Given the description of an element on the screen output the (x, y) to click on. 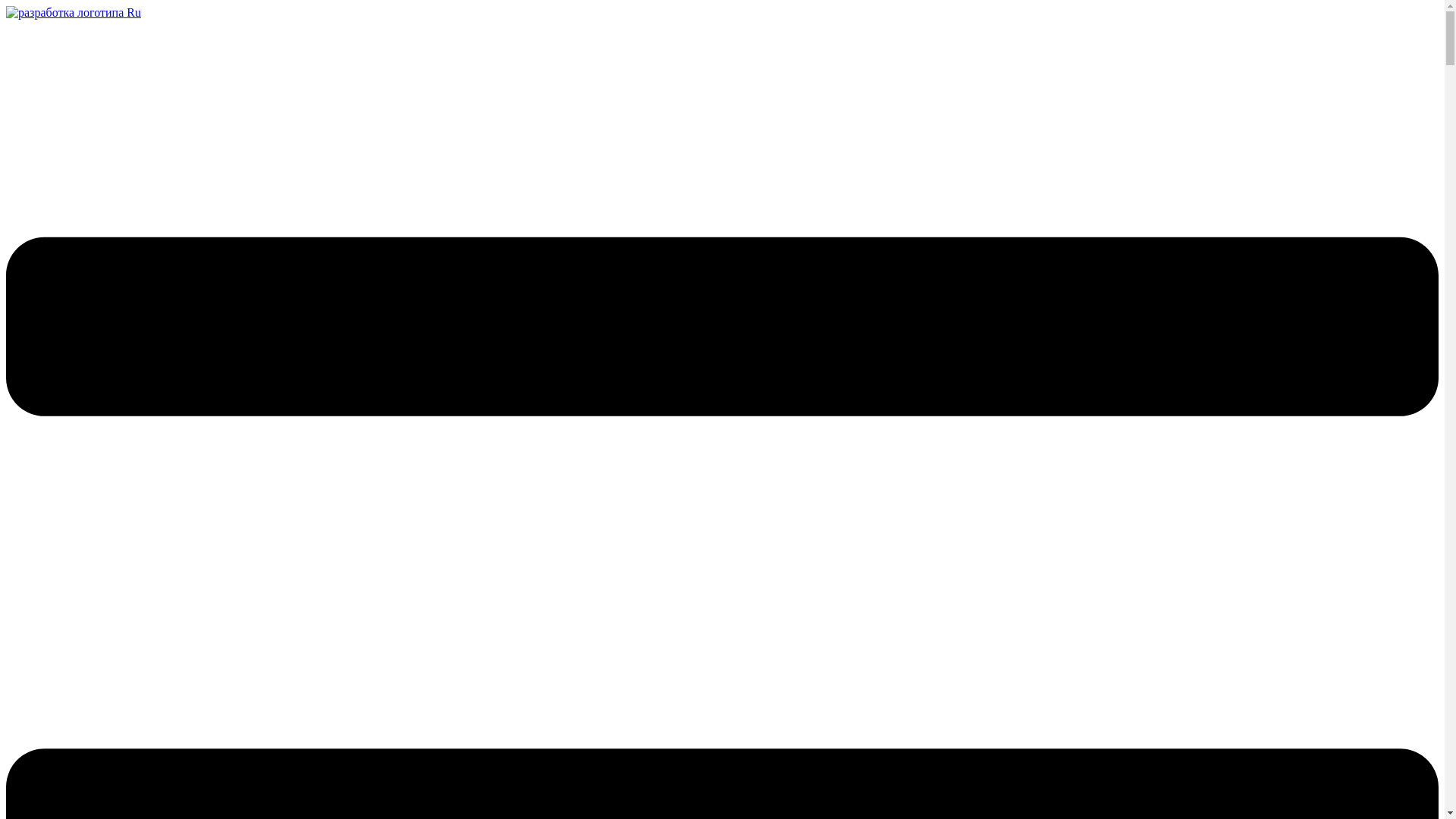
Ru (133, 11)
